Given the description of an element on the screen output the (x, y) to click on. 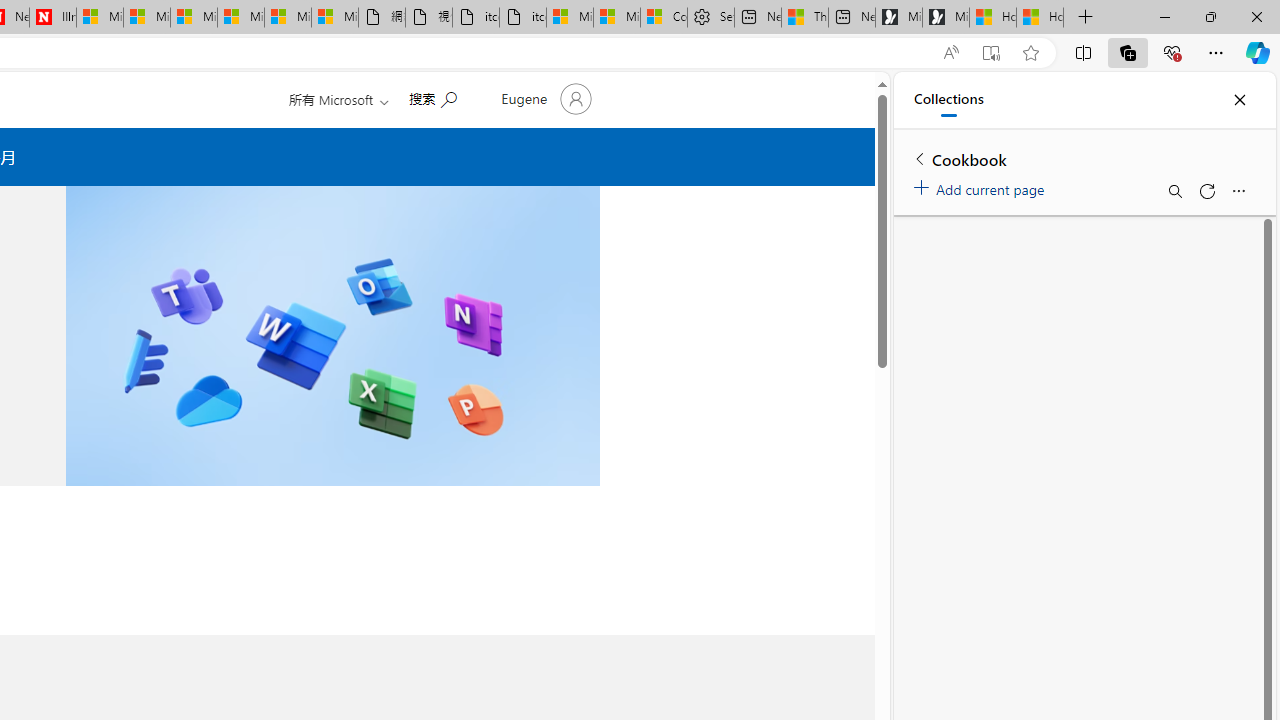
Add current page (982, 186)
